Given the description of an element on the screen output the (x, y) to click on. 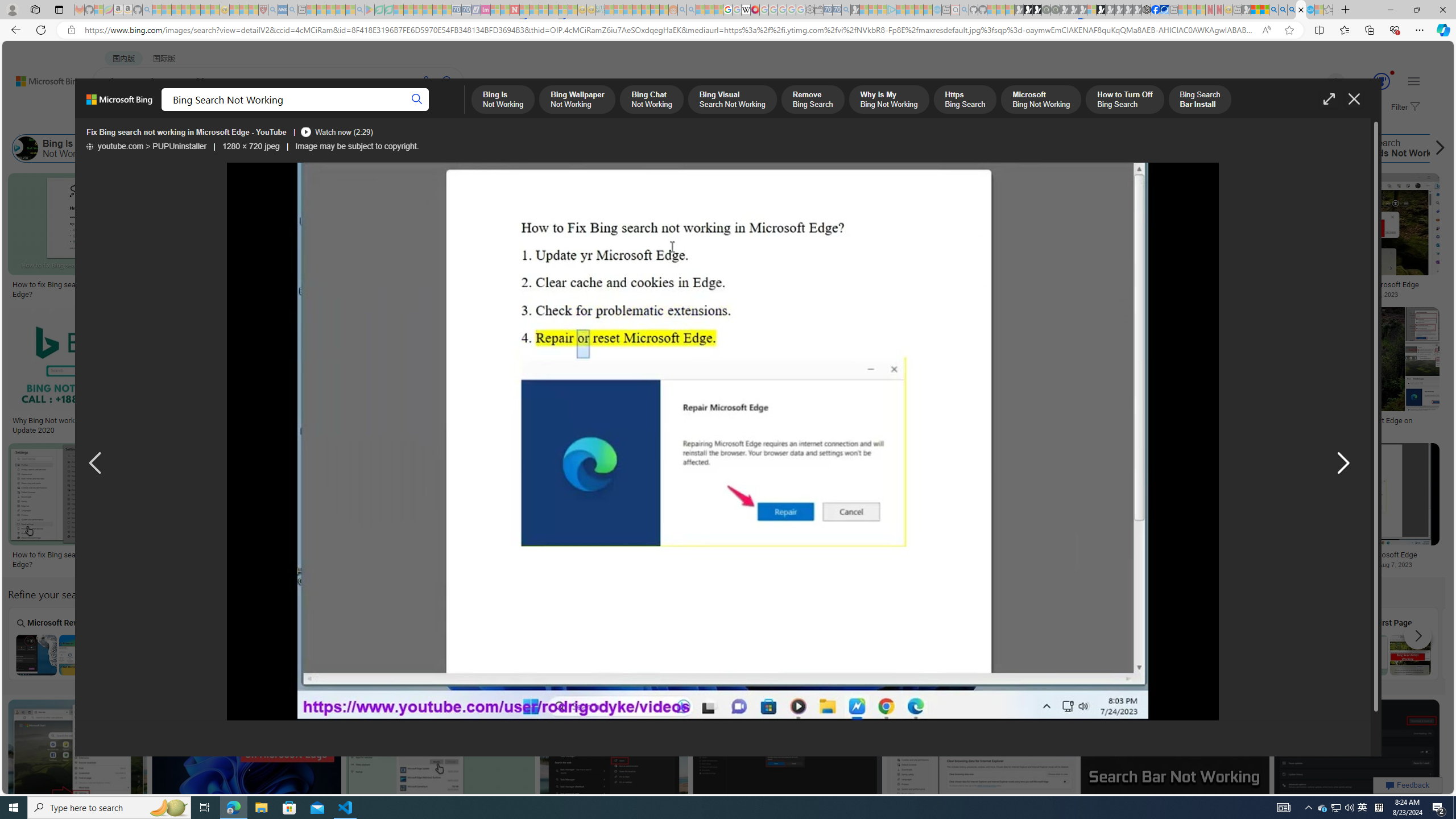
AirNow.gov (1163, 9)
Bar (1081, 643)
Fix Bing Search Not Working in Microsoft Edge (6 Easy Ways) (468, 289)
ACADEMIC (360, 111)
Play Zoo Boom in your browser | Games from Microsoft Start (1027, 9)
Bing Crosby Christmas Album (804, 212)
How to fix Bing search not working in Microsoft Edge? (1017, 559)
MY BING (156, 111)
AutomationID: serp_medal_svg (1381, 81)
Exact (978, 643)
